Given the description of an element on the screen output the (x, y) to click on. 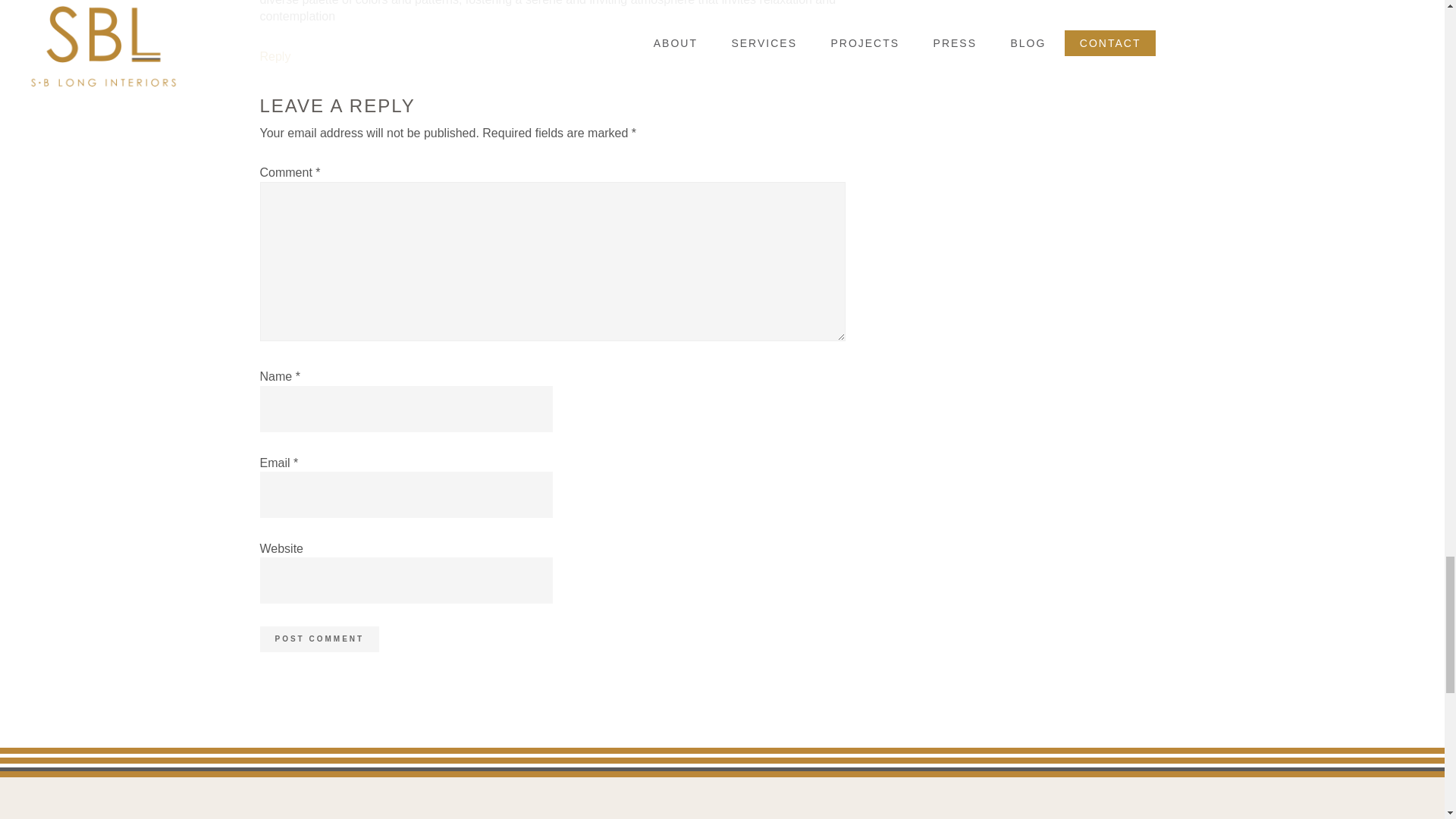
Post Comment (318, 638)
